Given the description of an element on the screen output the (x, y) to click on. 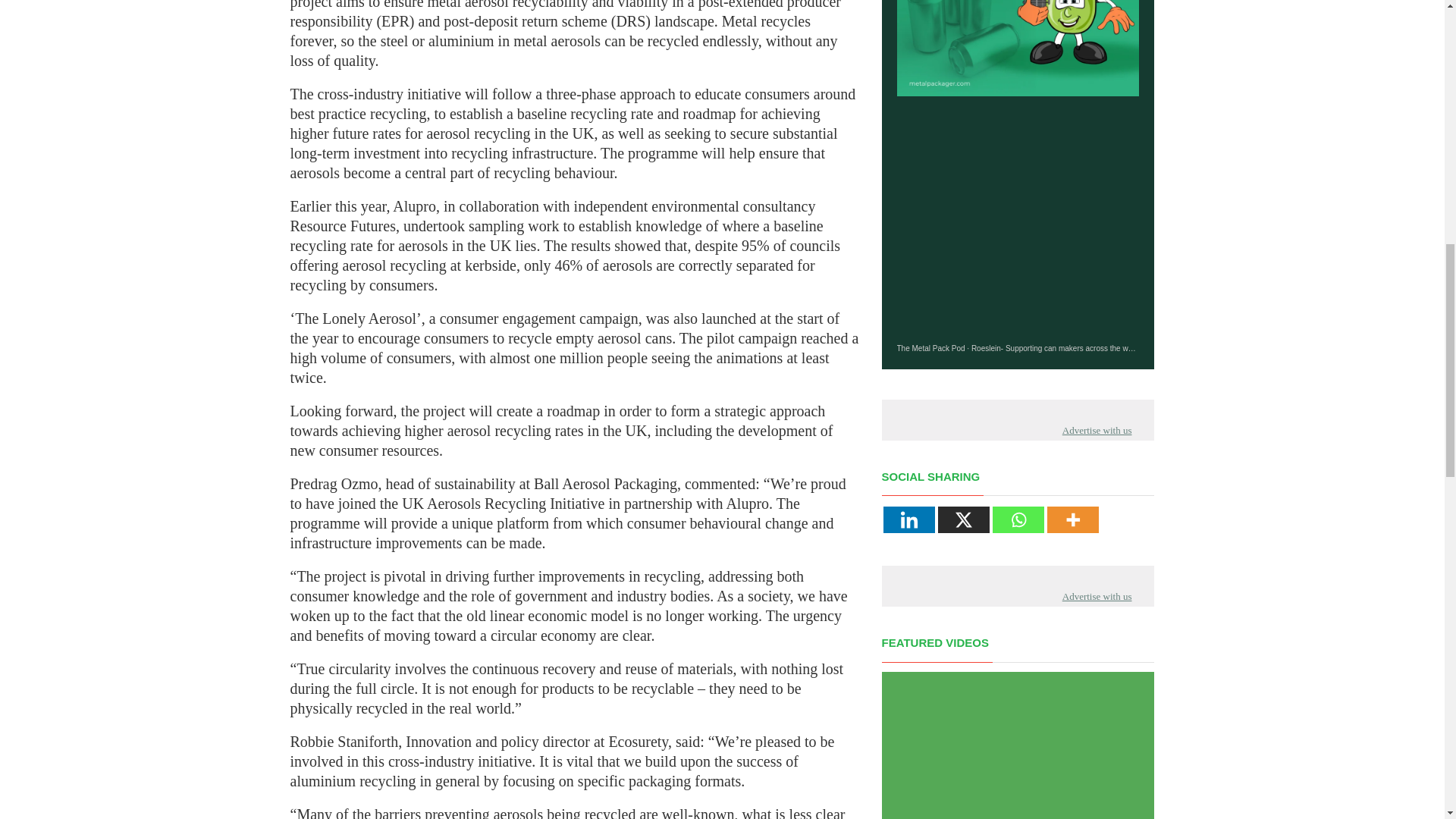
The Metal Pack Pod (929, 347)
